Given the description of an element on the screen output the (x, y) to click on. 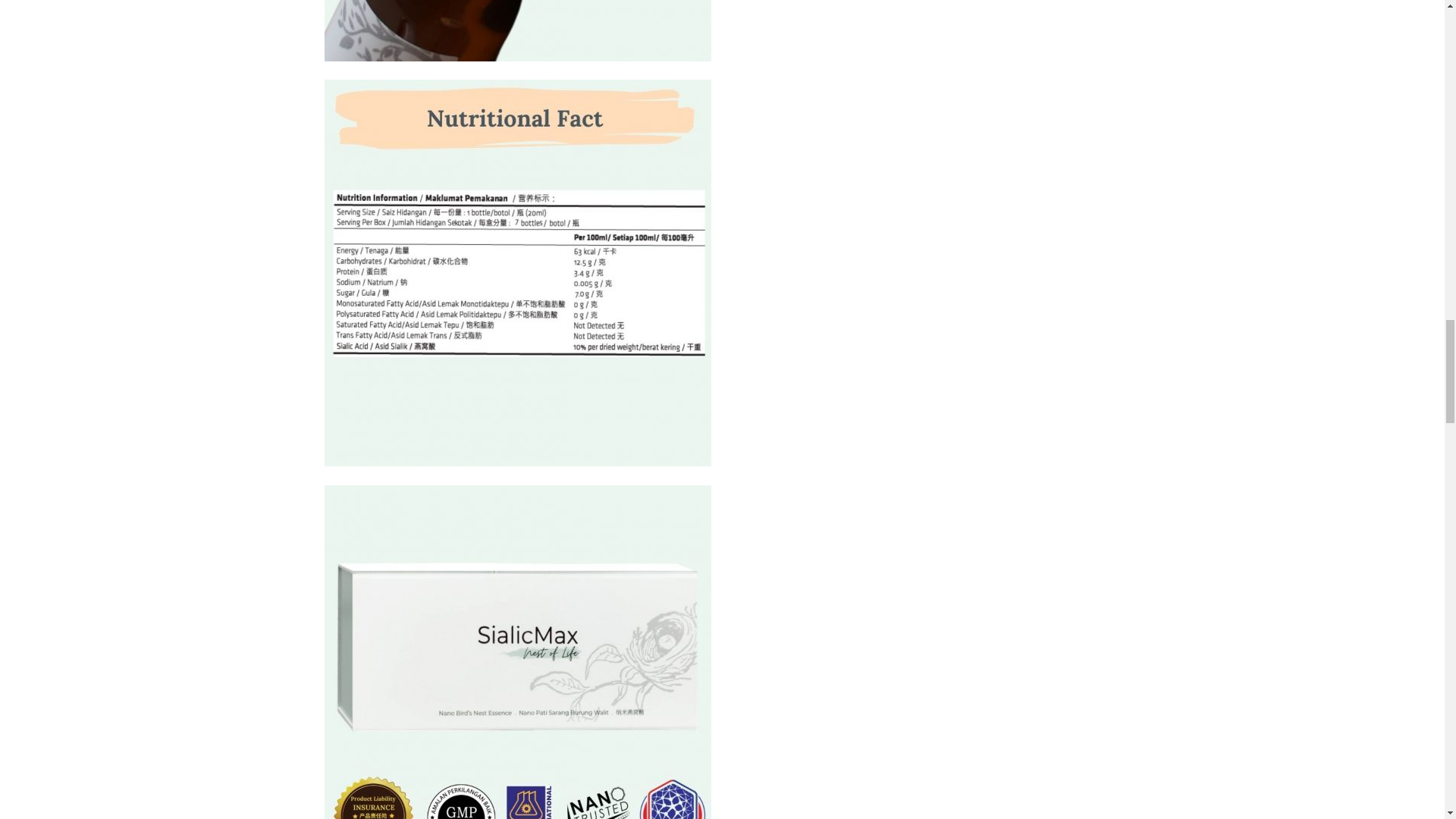
8 (517, 30)
4 (517, 652)
